Given the description of an element on the screen output the (x, y) to click on. 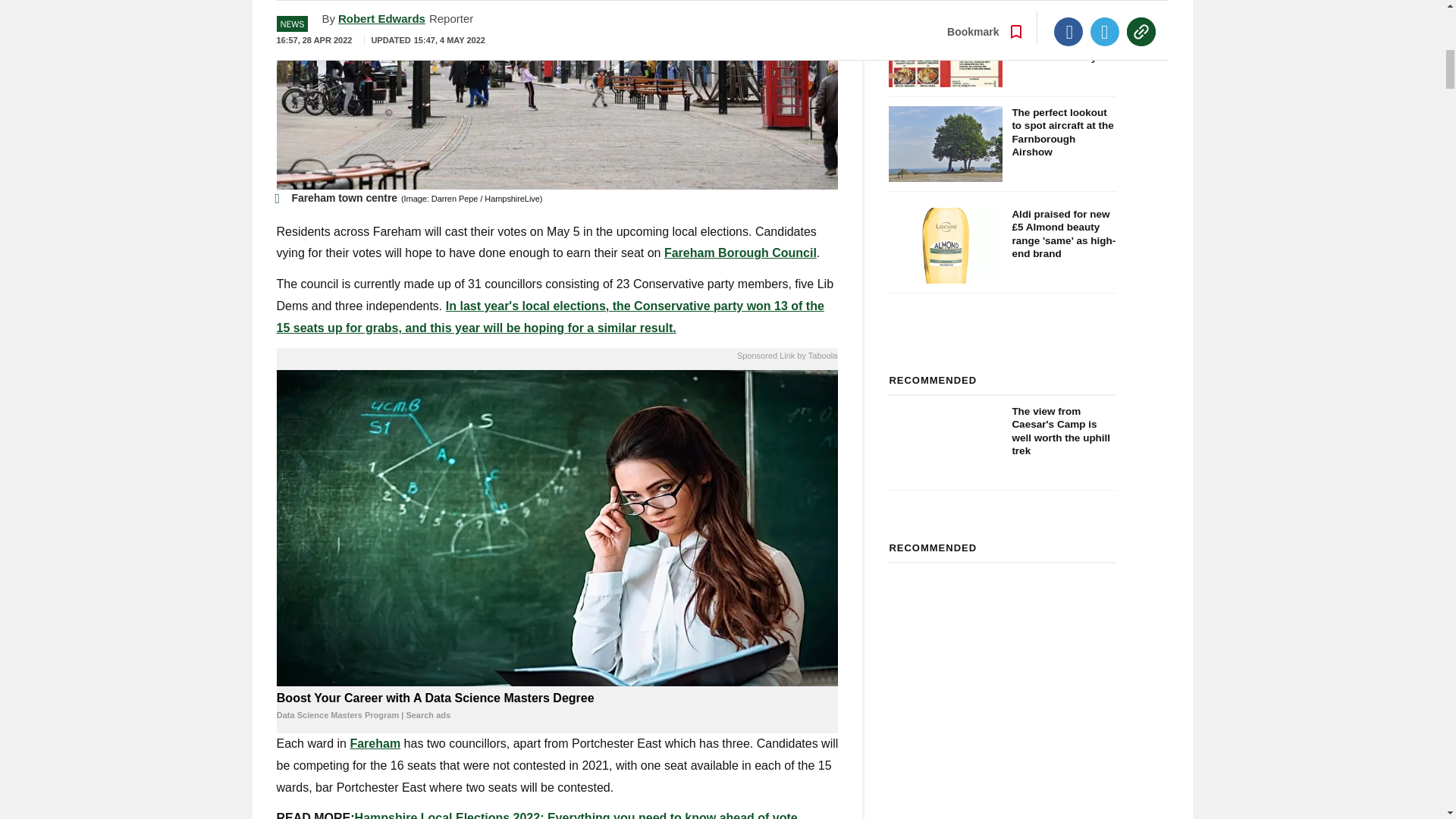
Boost Your Career with A Data Science Masters Degree (557, 706)
